Given the description of an element on the screen output the (x, y) to click on. 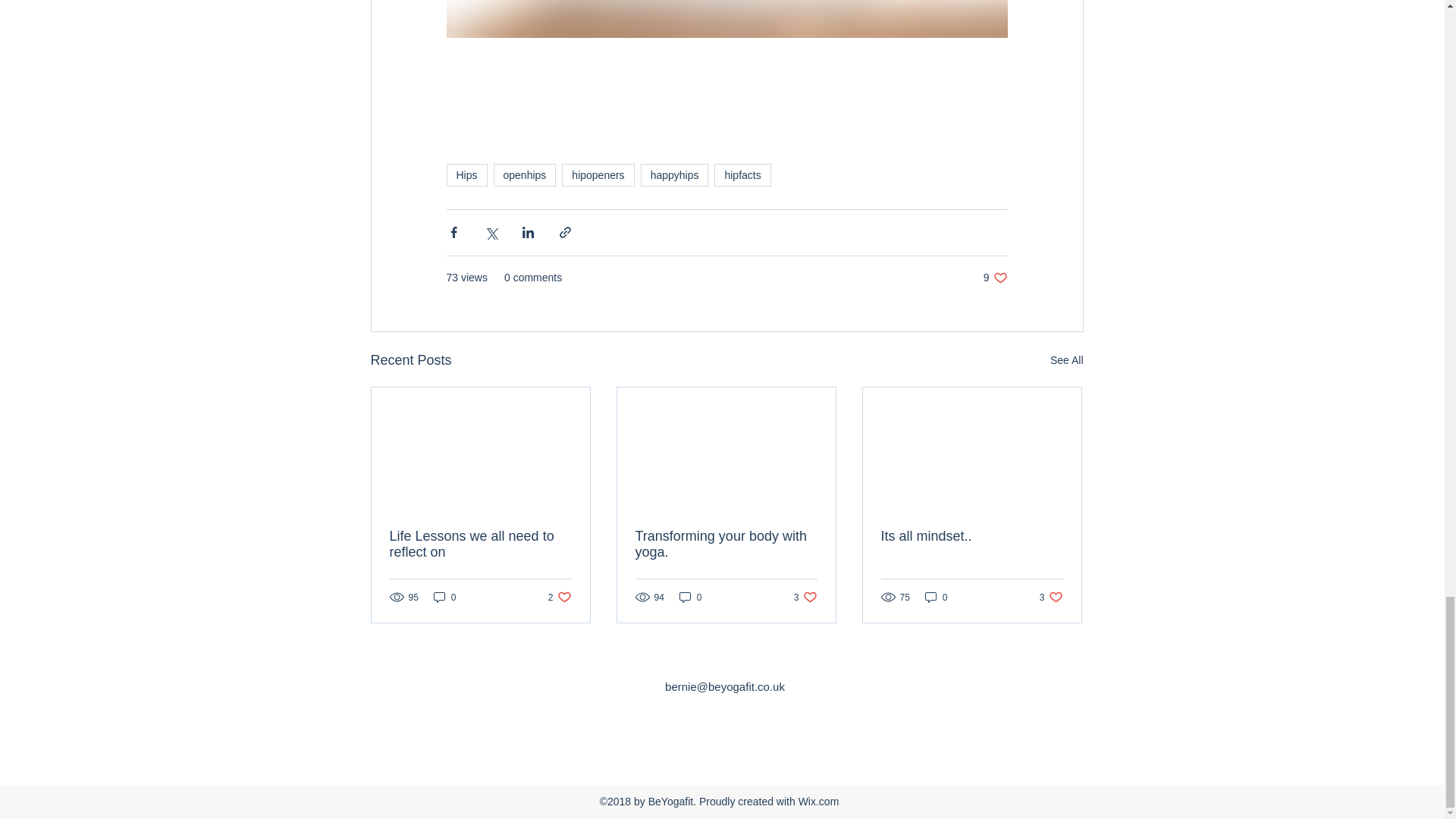
hipfacts (742, 174)
Hips (465, 174)
openhips (524, 174)
hipopeners (597, 174)
happyhips (674, 174)
